Given the description of an element on the screen output the (x, y) to click on. 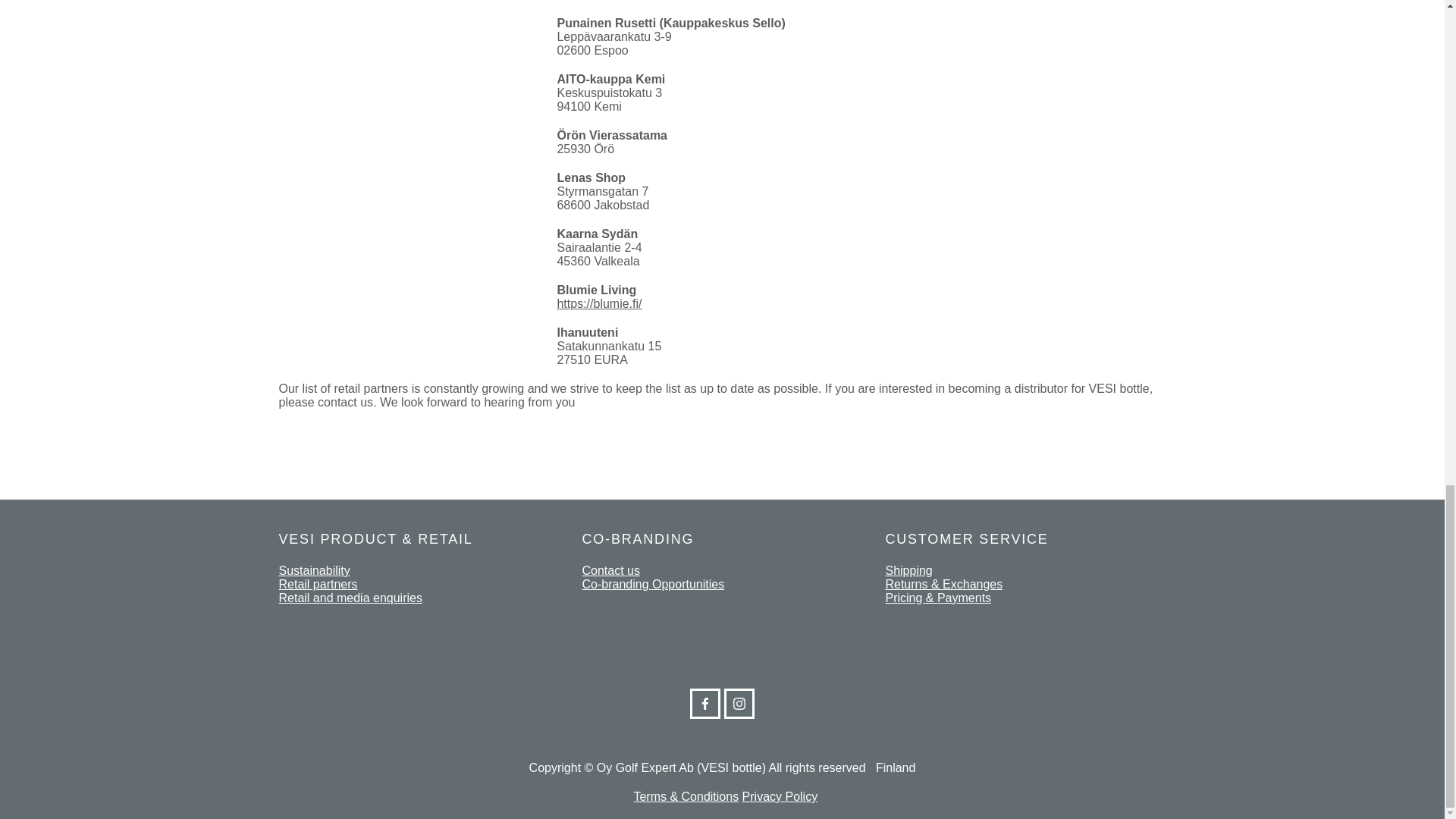
Co-branding Opportunities (651, 584)
Sustainability (314, 570)
Retail partners (318, 584)
Contact us (609, 570)
Shipping (908, 570)
Retail and media enquiries (350, 597)
